Given the description of an element on the screen output the (x, y) to click on. 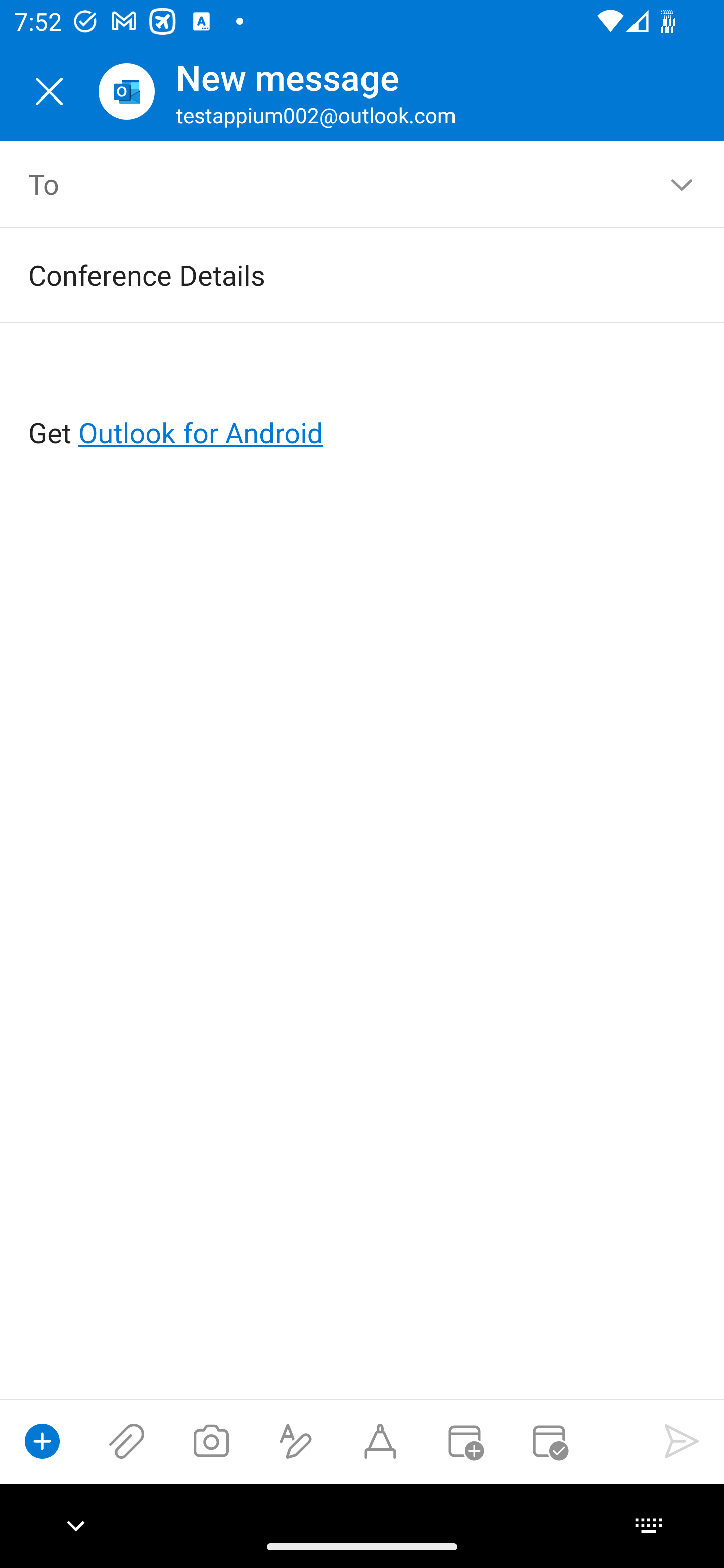
Close (49, 91)
Conference Details (333, 274)


Get Outlook for Android (363, 400)
Show compose options (42, 1440)
Attach files (126, 1440)
Take a photo (210, 1440)
Show formatting options (295, 1440)
Start Ink compose (380, 1440)
Convert to event (464, 1440)
Send availability (548, 1440)
Send (681, 1440)
